Given the description of an element on the screen output the (x, y) to click on. 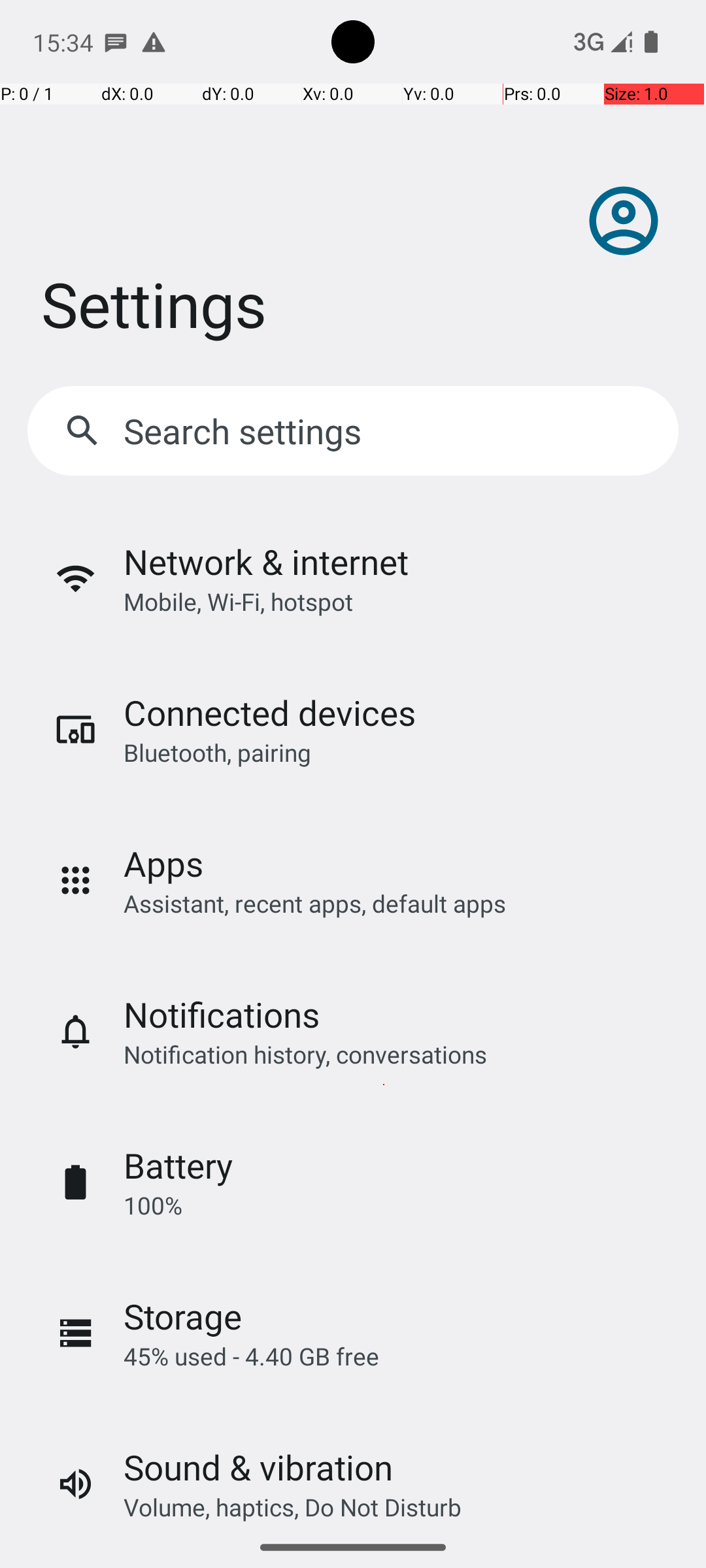
45% used - 4.40 GB free Element type: android.widget.TextView (251, 1355)
